Given the description of an element on the screen output the (x, y) to click on. 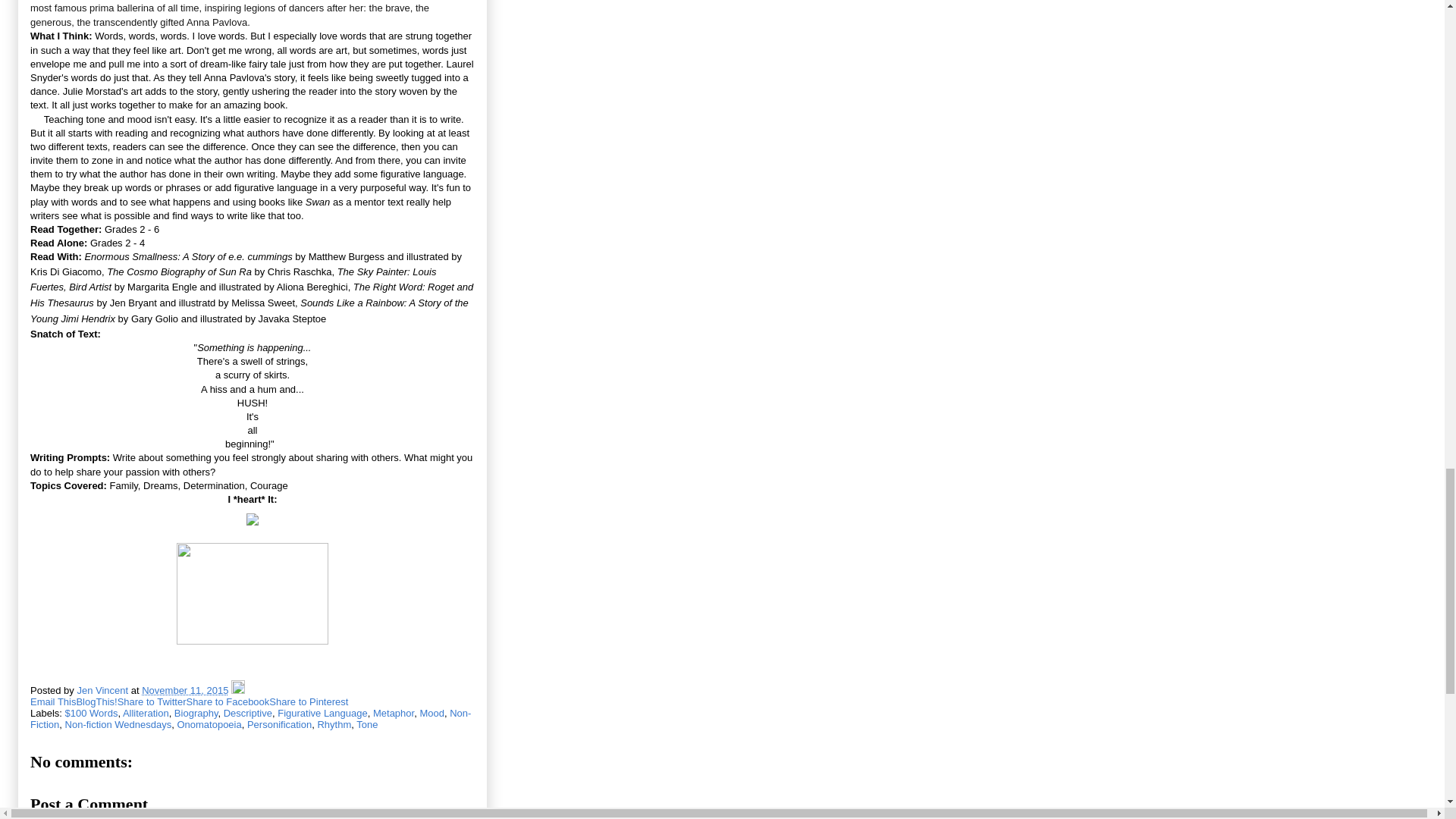
Biography (196, 713)
Edit Post (237, 690)
author profile (104, 690)
Alliteration (145, 713)
Figurative Language (323, 713)
BlogThis! (95, 701)
permanent link (184, 690)
Descriptive (248, 713)
Share to Facebook (227, 701)
Share to Pinterest (308, 701)
